Given the description of an element on the screen output the (x, y) to click on. 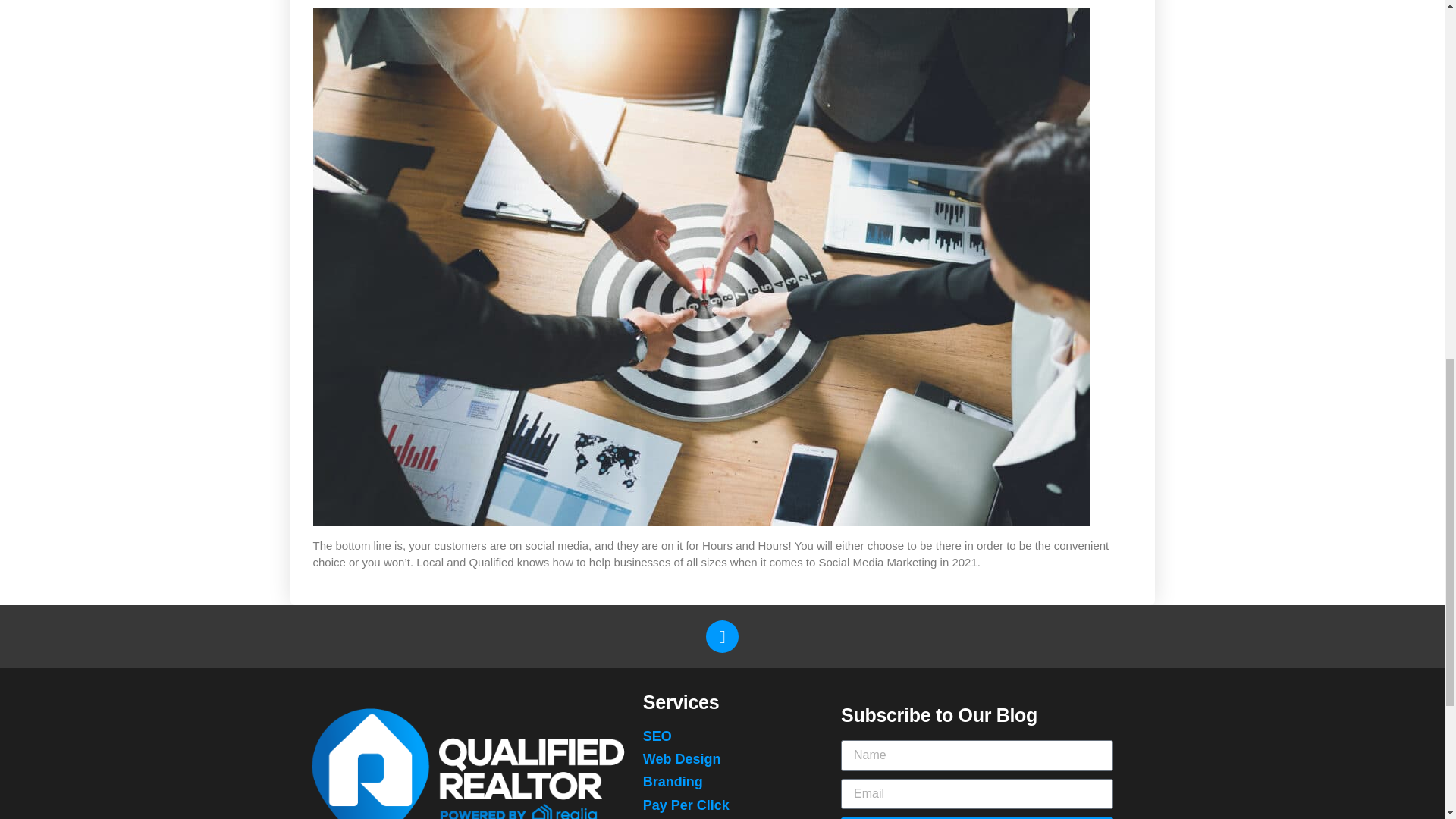
Branding (723, 782)
Web Design (723, 759)
SEO (723, 736)
Pay Per Click (723, 805)
